Given the description of an element on the screen output the (x, y) to click on. 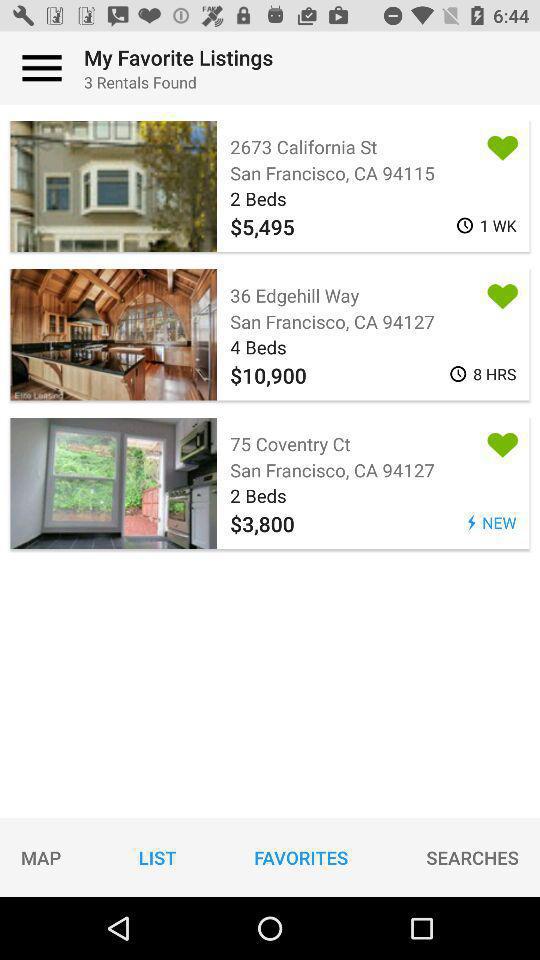
jump to the favorites item (301, 857)
